Given the description of an element on the screen output the (x, y) to click on. 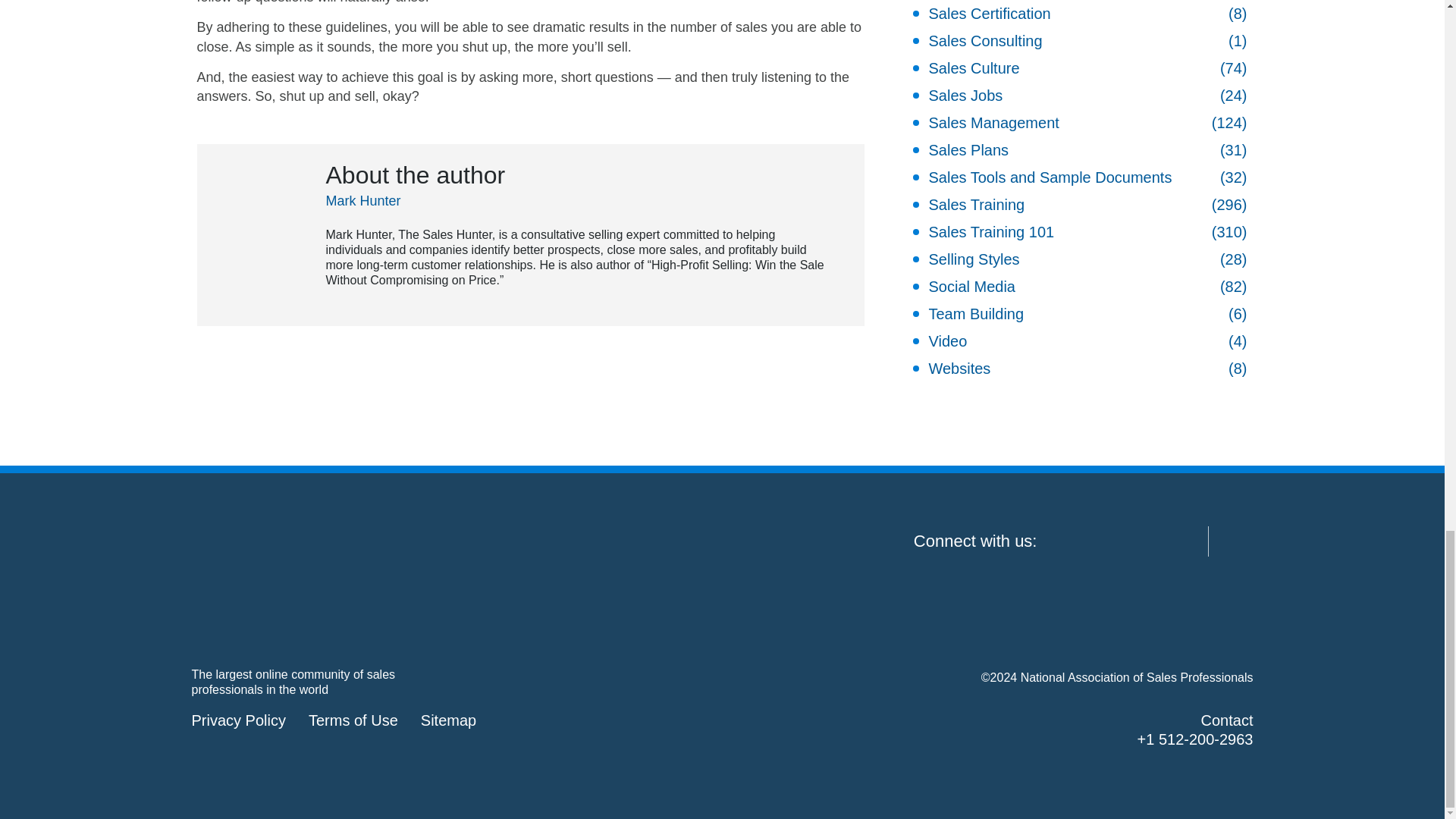
Mark Hunter (363, 200)
NASP logo footer (304, 581)
